Given the description of an element on the screen output the (x, y) to click on. 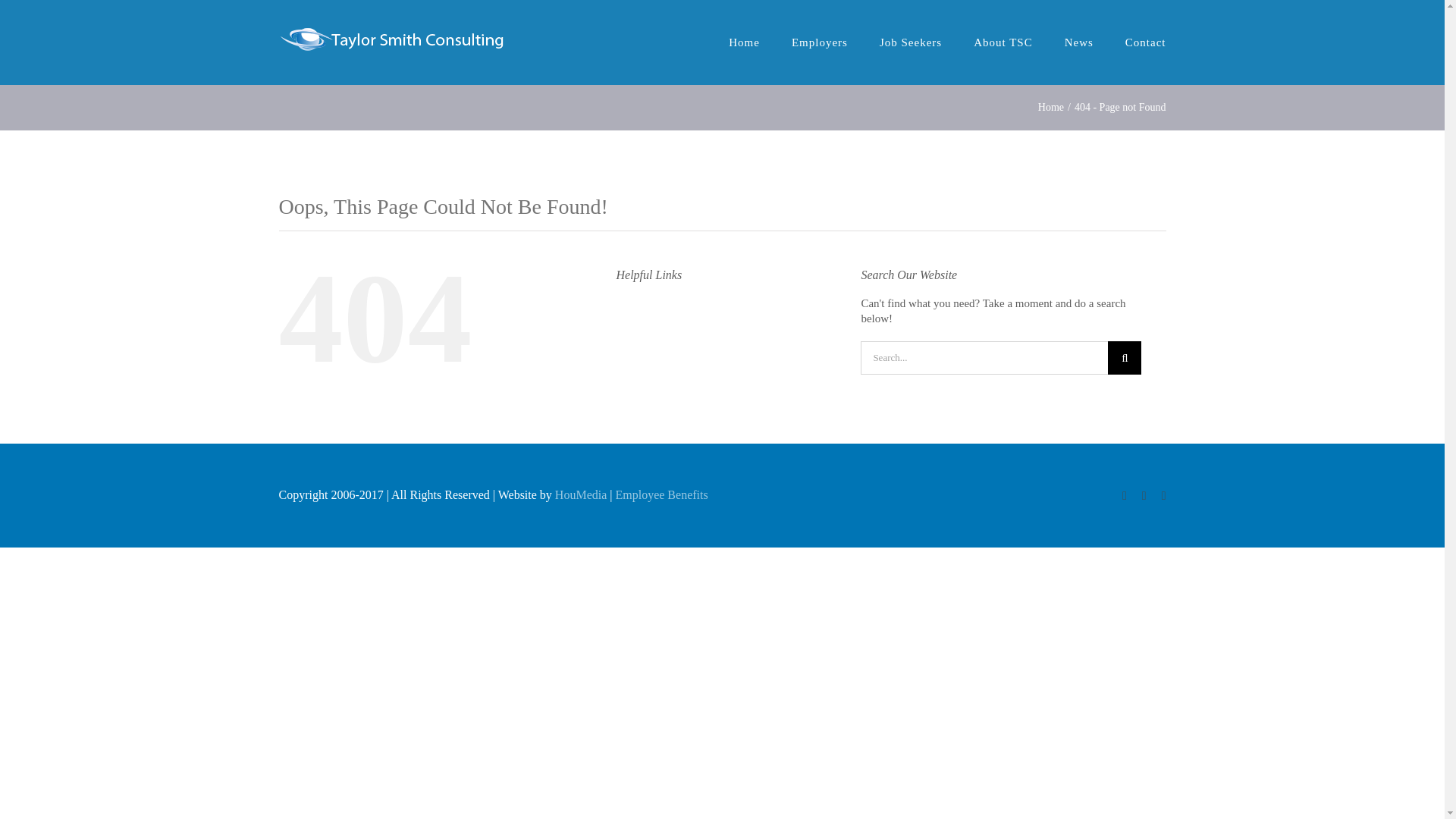
HouMedia (580, 494)
Employee Benefits (661, 494)
Home (1051, 107)
